Given the description of an element on the screen output the (x, y) to click on. 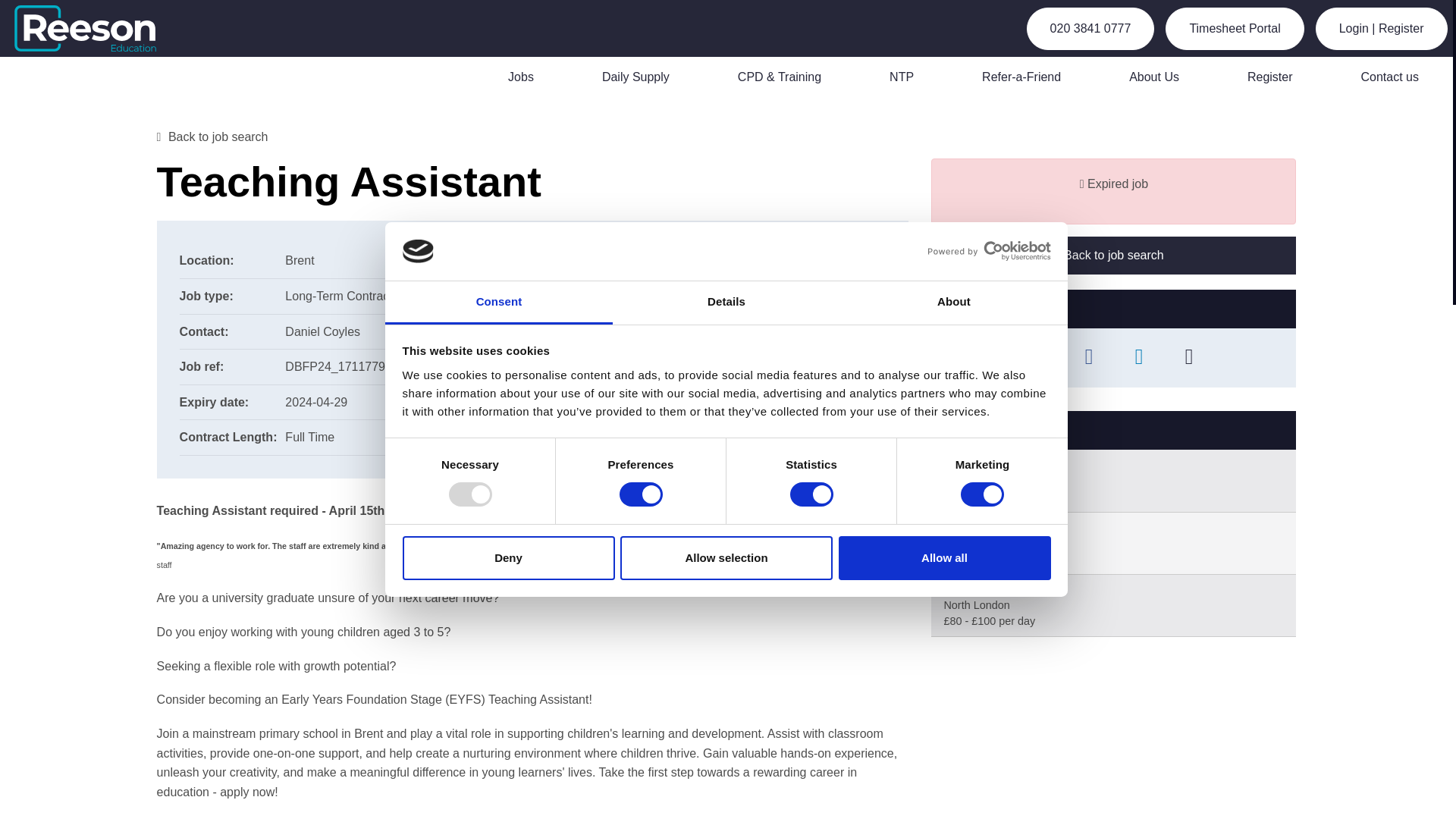
About (953, 302)
Details (726, 302)
Facebook (1088, 357)
Consent (498, 302)
020 3841 0777 (1090, 28)
LinkedIn (1138, 357)
Timesheet Portal (1234, 28)
Go to the Homepage (94, 28)
Allow selection (726, 557)
Twitter (1039, 357)
